Given the description of an element on the screen output the (x, y) to click on. 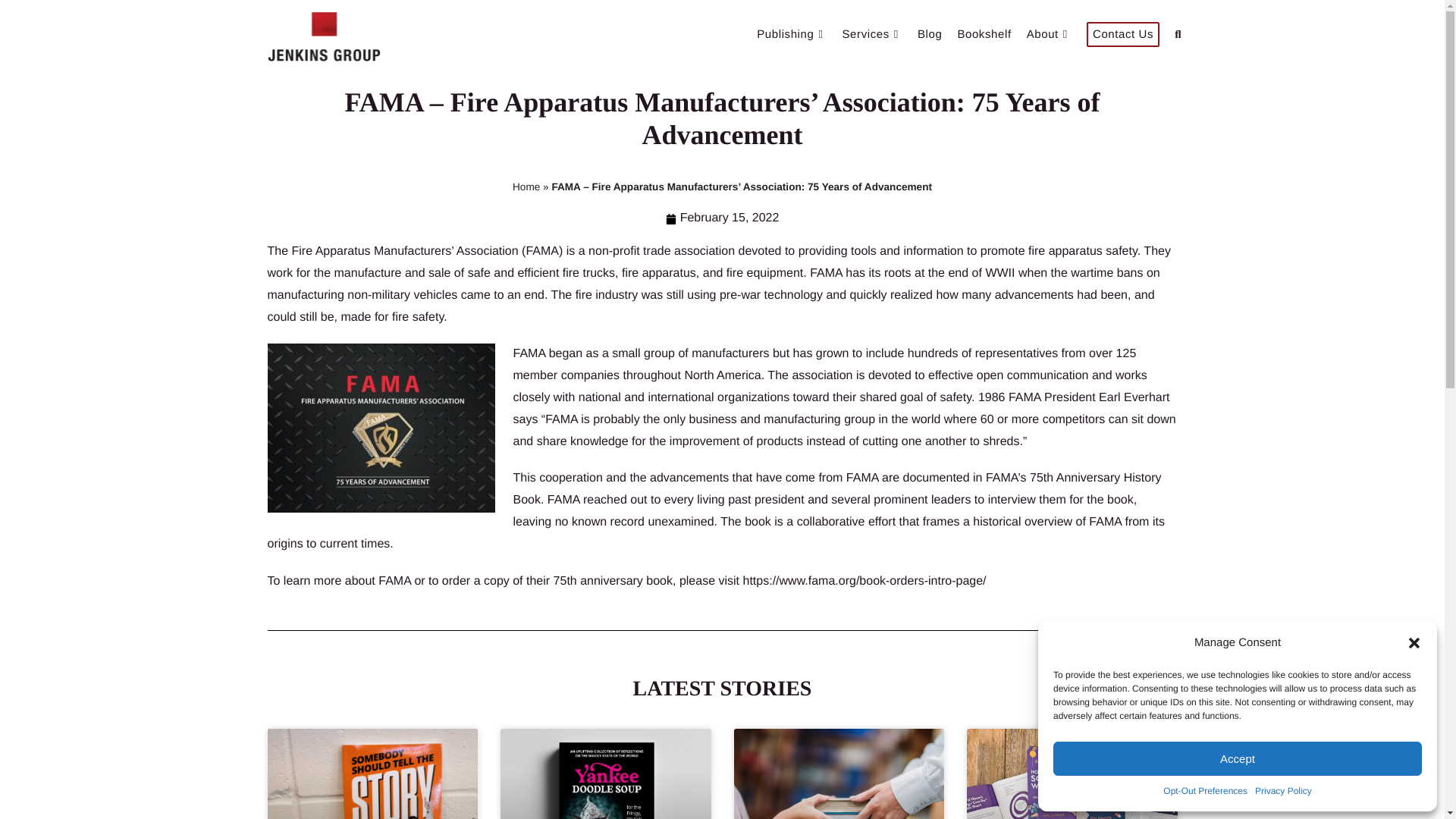
About (1048, 34)
Bookshelf (983, 34)
Privacy Policy (1283, 791)
Opt-Out Preferences (1205, 791)
Services (872, 34)
Accept (1237, 758)
Publishing (791, 34)
